Given the description of an element on the screen output the (x, y) to click on. 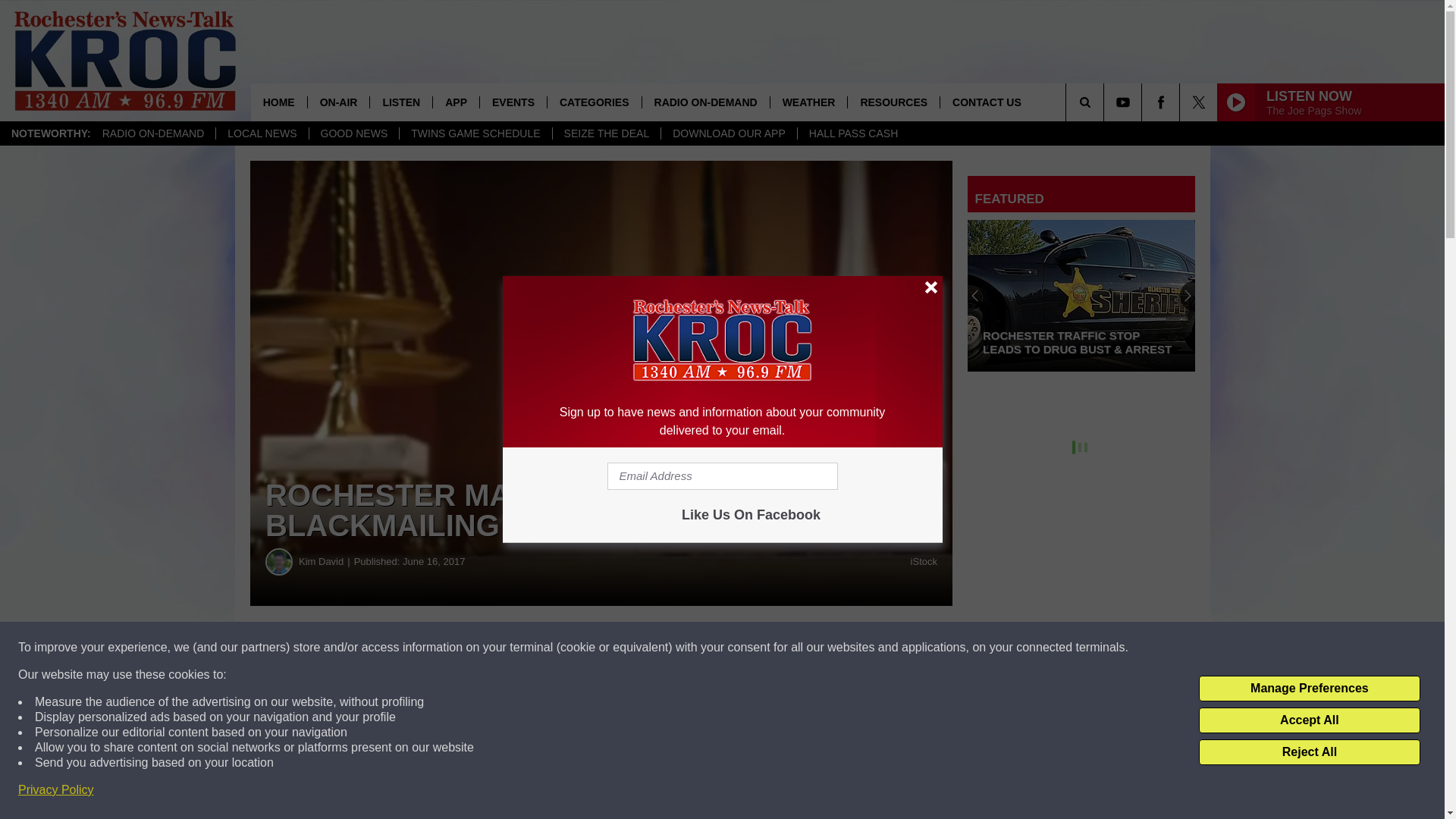
Share on Facebook (460, 647)
Reject All (1309, 751)
HALL PASS CASH (853, 133)
LOCAL NEWS (261, 133)
Share on Twitter (741, 647)
DOWNLOAD OUR APP (728, 133)
HOME (278, 102)
Privacy Policy (55, 789)
Manage Preferences (1309, 688)
TWINS GAME SCHEDULE (474, 133)
SEIZE THE DEAL (606, 133)
SEARCH (1106, 102)
Accept All (1309, 720)
LISTEN (400, 102)
Email Address (722, 475)
